Given the description of an element on the screen output the (x, y) to click on. 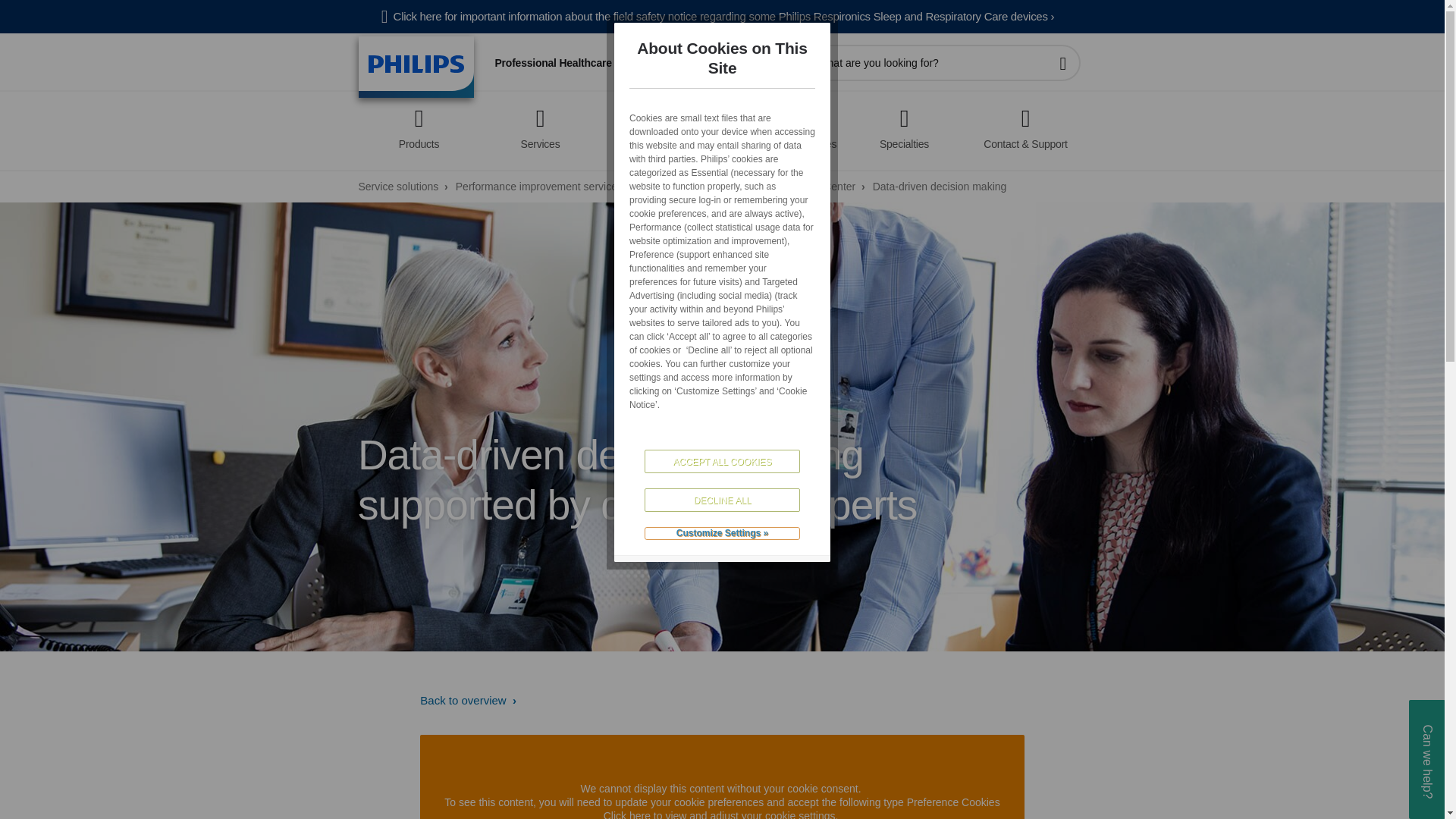
Products (418, 123)
Services (539, 123)
Professional Healthcare (552, 63)
Home (415, 66)
